Given the description of an element on the screen output the (x, y) to click on. 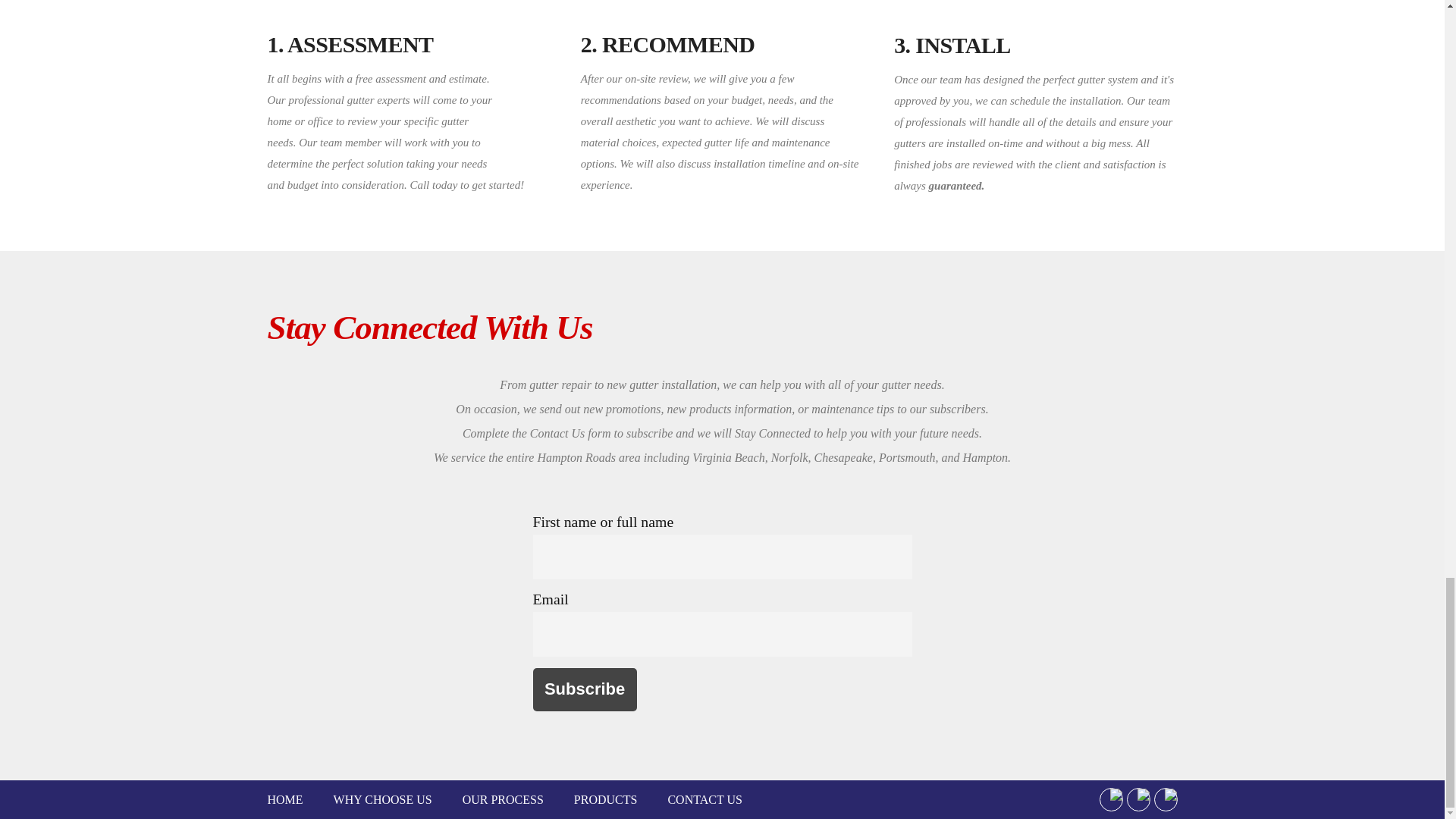
Subscribe (584, 689)
HOME (284, 799)
WHY CHOOSE US (382, 799)
OUR PROCESS (503, 799)
PRODUCTS (605, 799)
CONTACT US (703, 799)
Subscribe (584, 689)
